Given the description of an element on the screen output the (x, y) to click on. 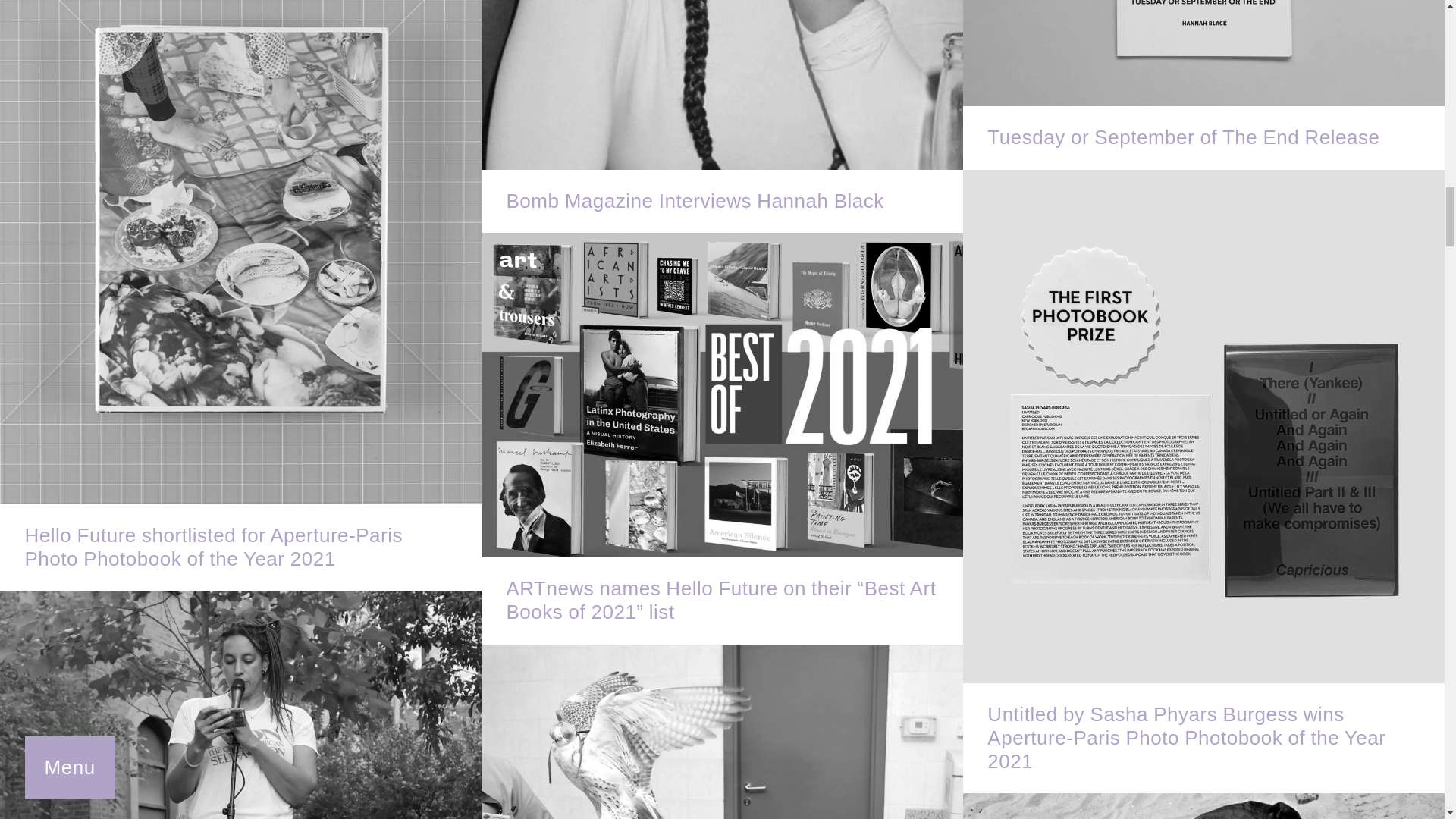
Bomb Magazine Interviews Hannah Black (721, 116)
